Given the description of an element on the screen output the (x, y) to click on. 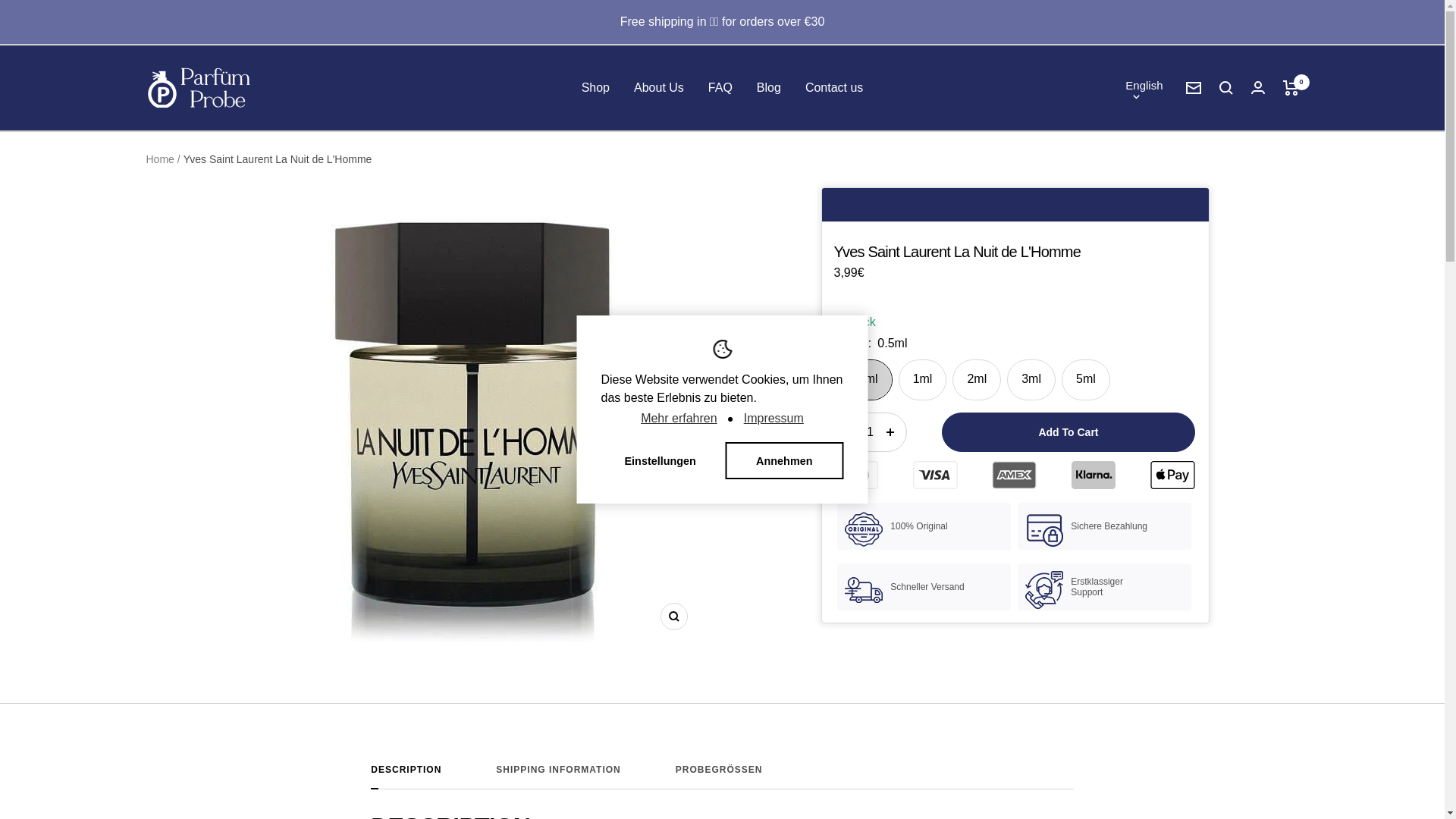
Annehmen (784, 460)
Impressum (773, 418)
en (1127, 169)
Einstellungen (659, 460)
Zoom (674, 615)
Home (159, 159)
0 (1290, 87)
About Us (658, 87)
